Given the description of an element on the screen output the (x, y) to click on. 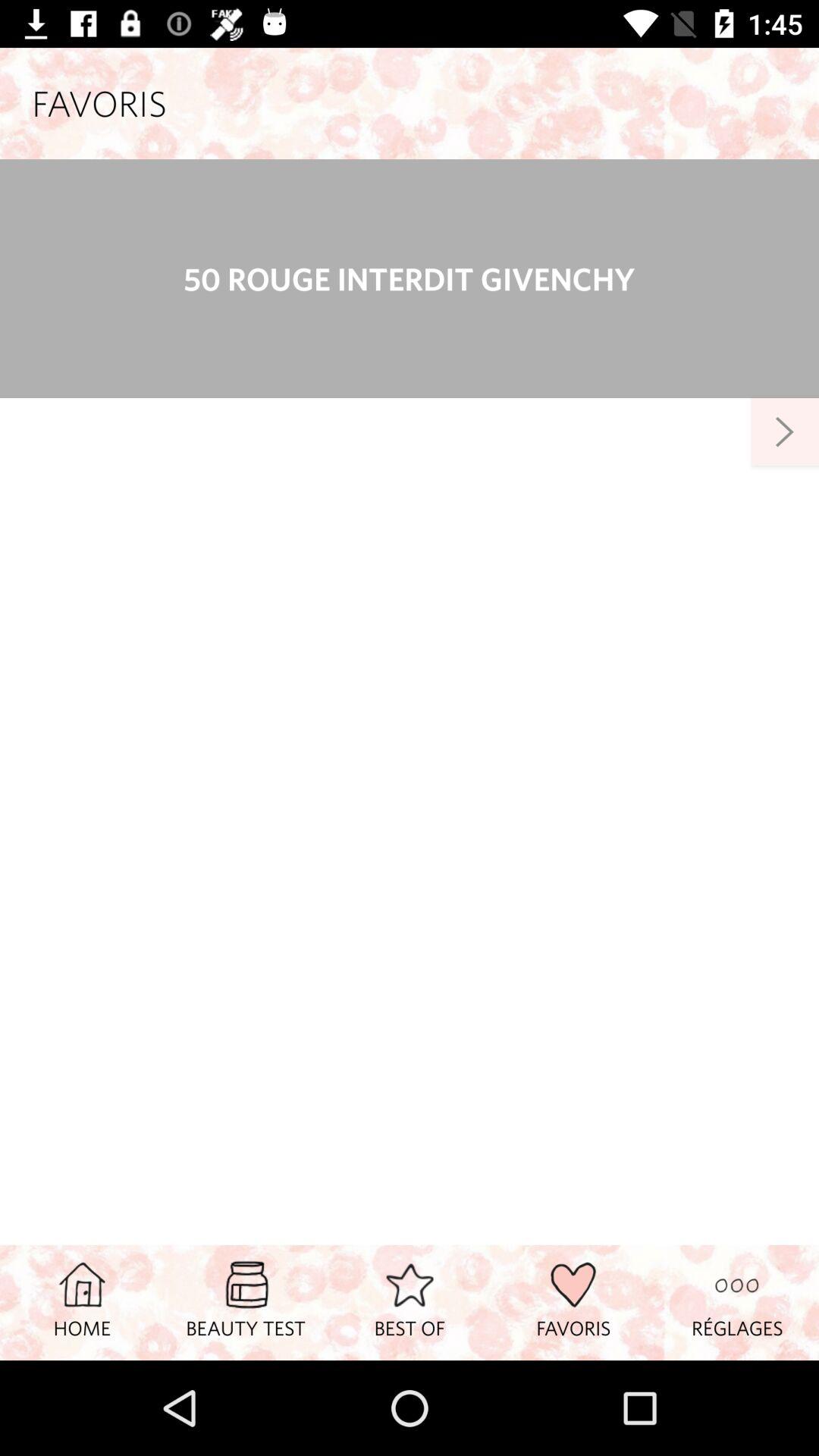
select item next to the favoris item (409, 1302)
